Given the description of an element on the screen output the (x, y) to click on. 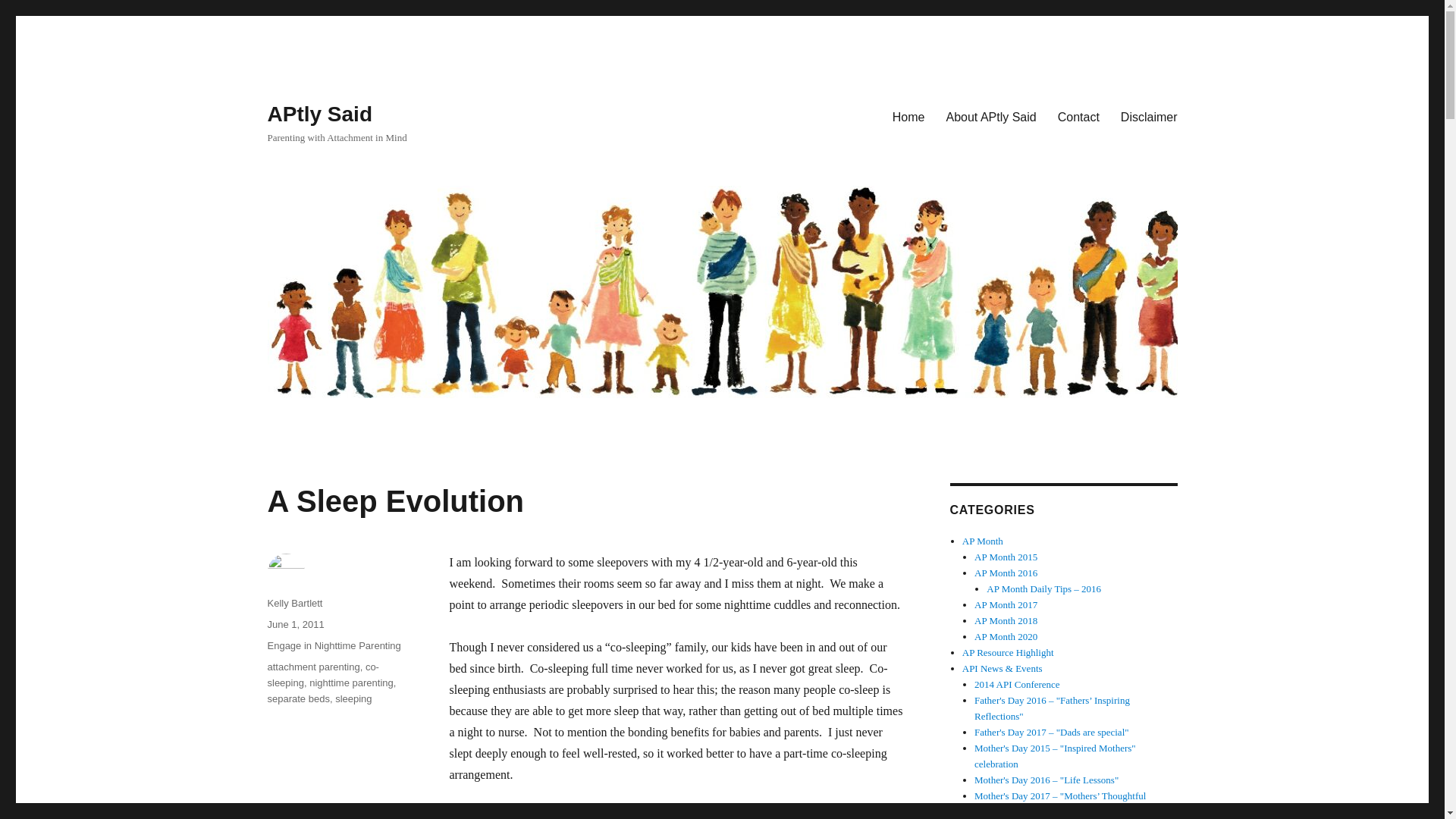
Kelly Bartlett (293, 603)
Disclaimer (1148, 116)
sleeping (352, 698)
Home (909, 116)
APtly Said (318, 114)
About APtly Said (991, 116)
separate beds (297, 698)
co-sleeping (322, 674)
June 1, 2011 (294, 624)
nighttime parenting (350, 682)
